Given the description of an element on the screen output the (x, y) to click on. 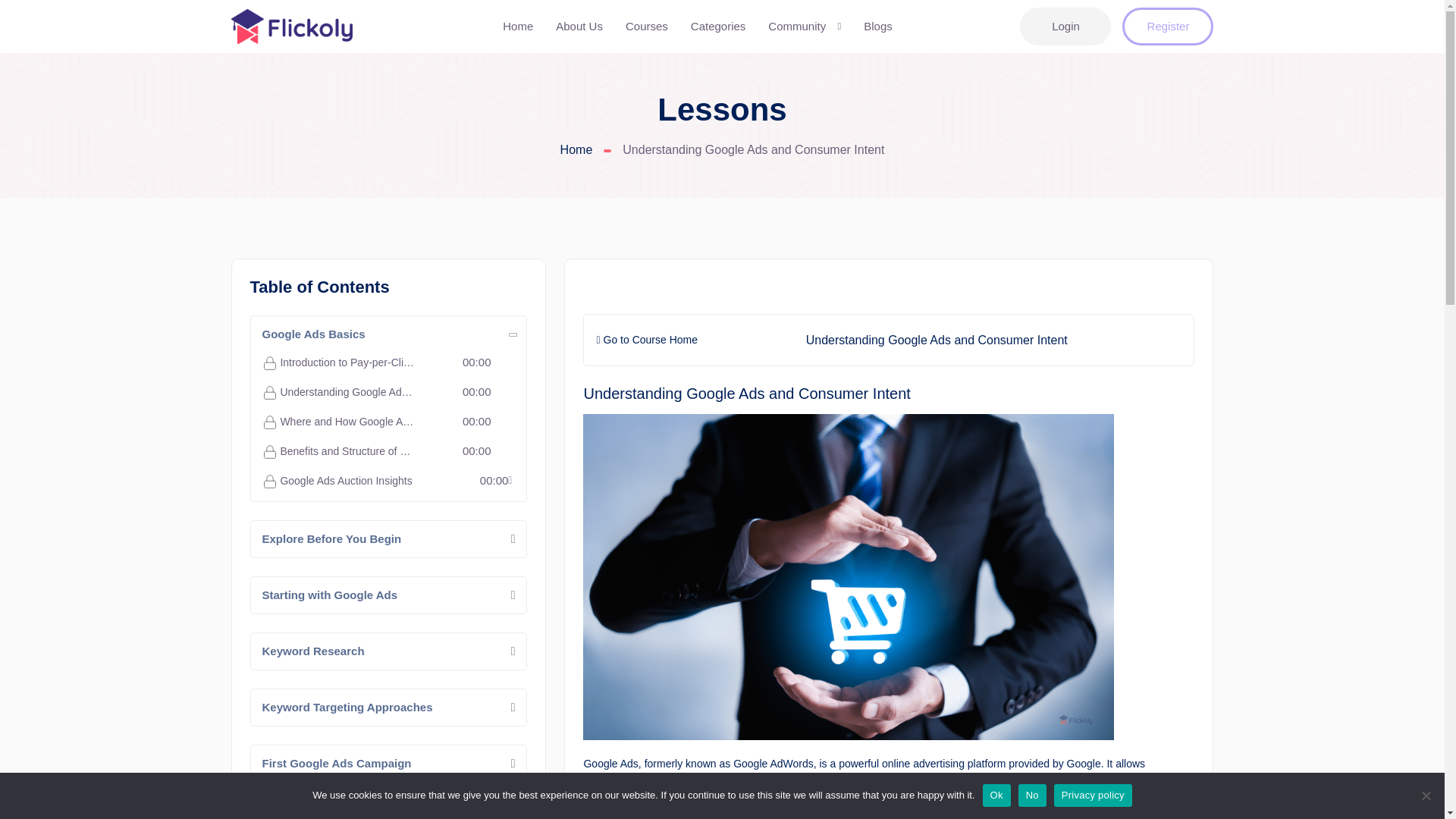
Community (388, 421)
Categories (804, 26)
on (388, 451)
Register (388, 392)
No (717, 26)
Login (505, 451)
on (1167, 26)
Home (1425, 795)
